Given the description of an element on the screen output the (x, y) to click on. 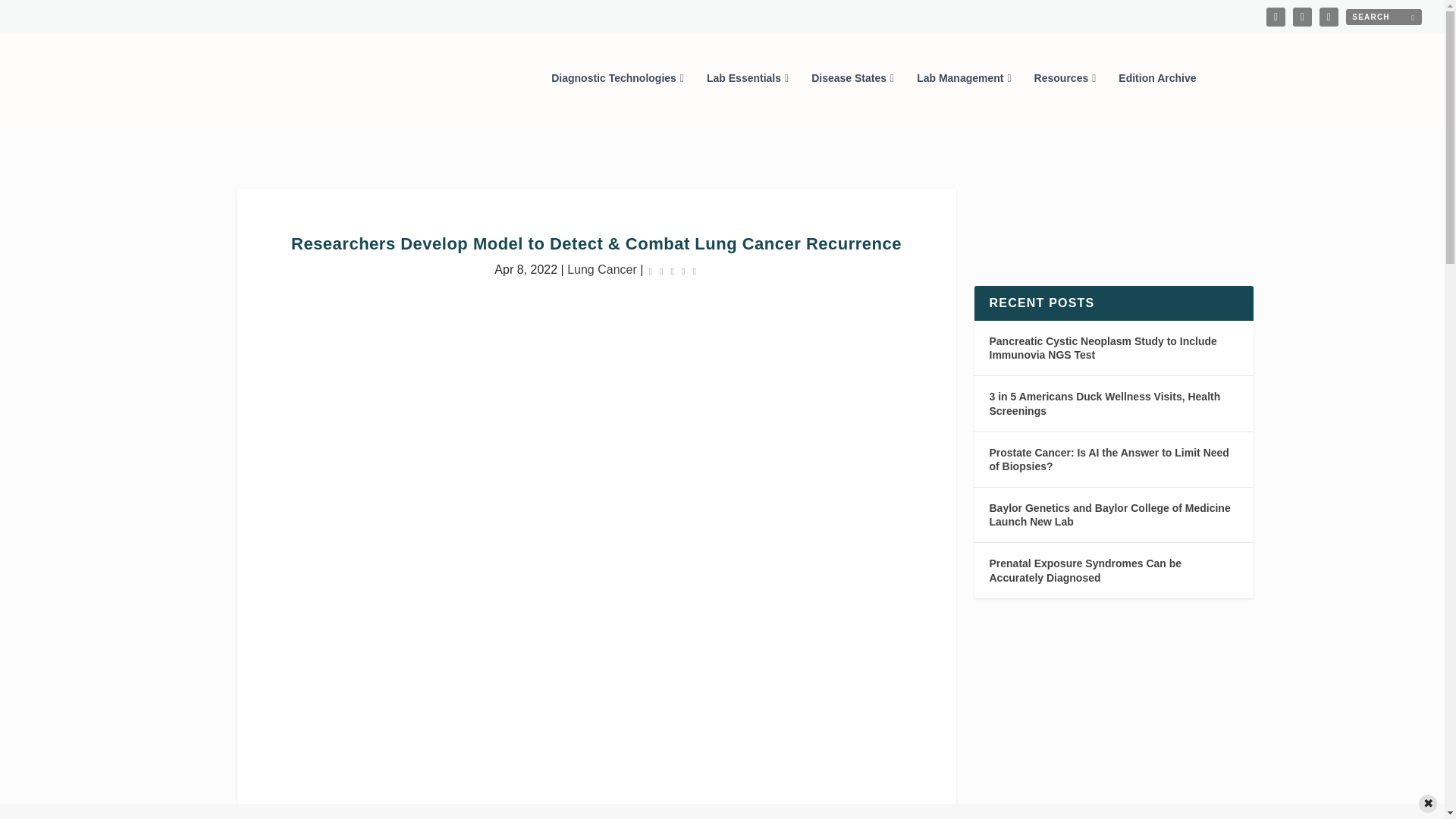
Disease States (851, 99)
Diagnostic Technologies (617, 99)
Search for: (1383, 17)
Rating: 0.00 (672, 270)
Lab Essentials (747, 99)
Lab Management (963, 99)
